Given the description of an element on the screen output the (x, y) to click on. 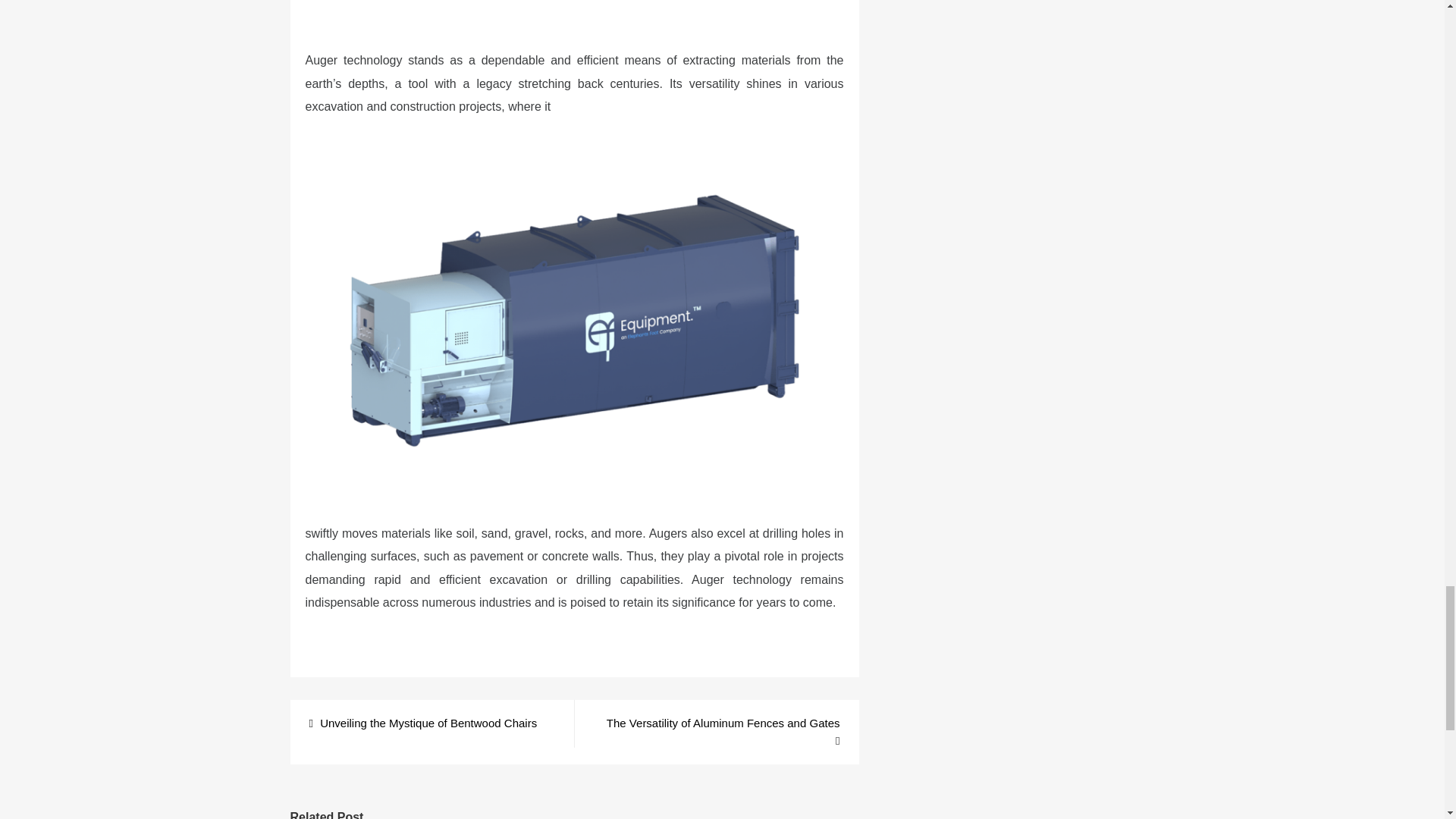
Unveiling the Mystique of Bentwood Chairs (422, 723)
The Versatility of Aluminum Fences and Gates (716, 731)
